Given the description of an element on the screen output the (x, y) to click on. 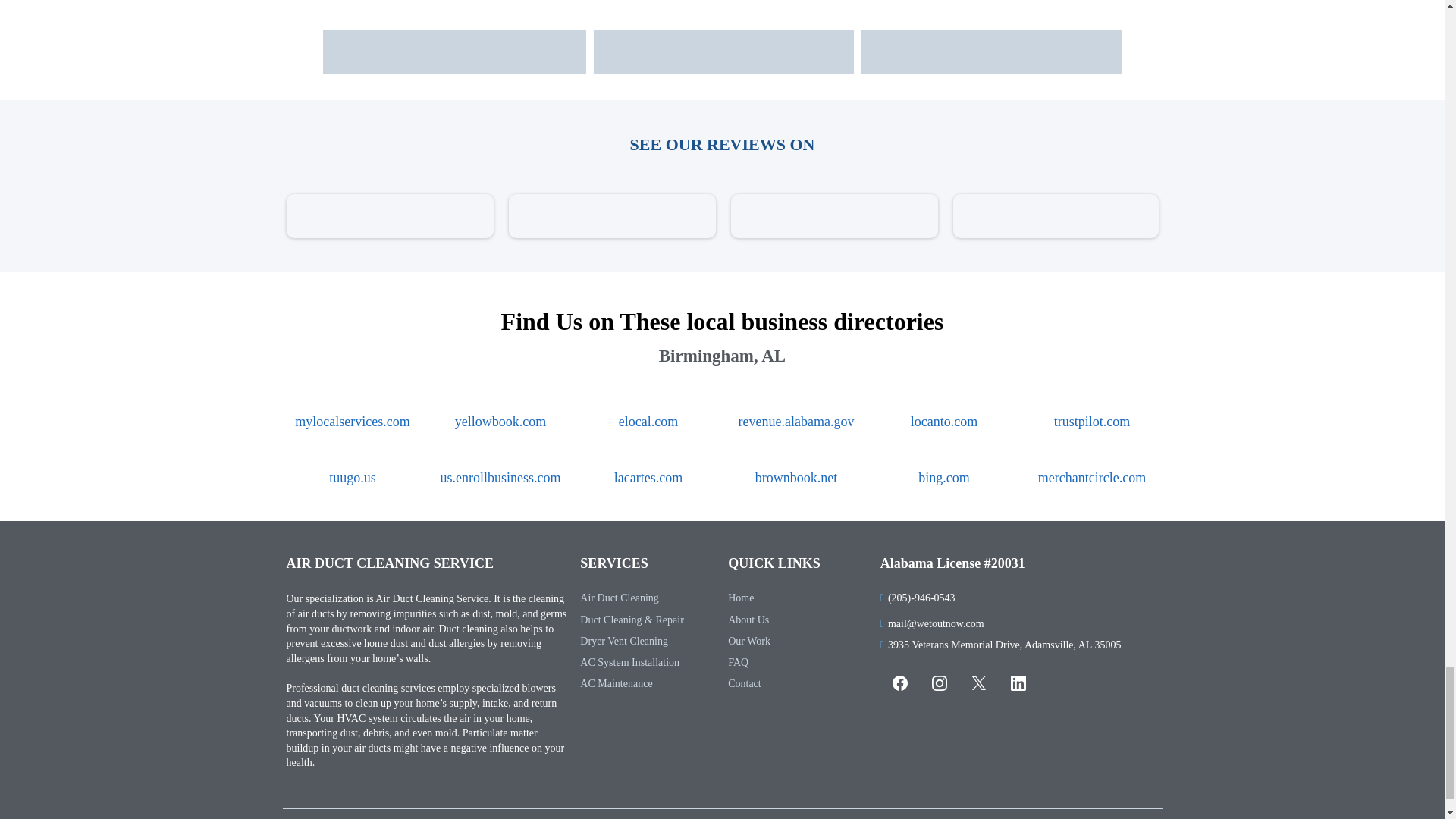
brownbook.net (796, 477)
revenue.alabama.gov (796, 421)
bing.com (943, 477)
trustpilot.com (1092, 421)
us.enrollbusiness.com (499, 477)
Home (741, 597)
lacartes.com (648, 477)
Our Work (749, 641)
mylocalservices.com (352, 421)
locanto.com (943, 421)
